Given the description of an element on the screen output the (x, y) to click on. 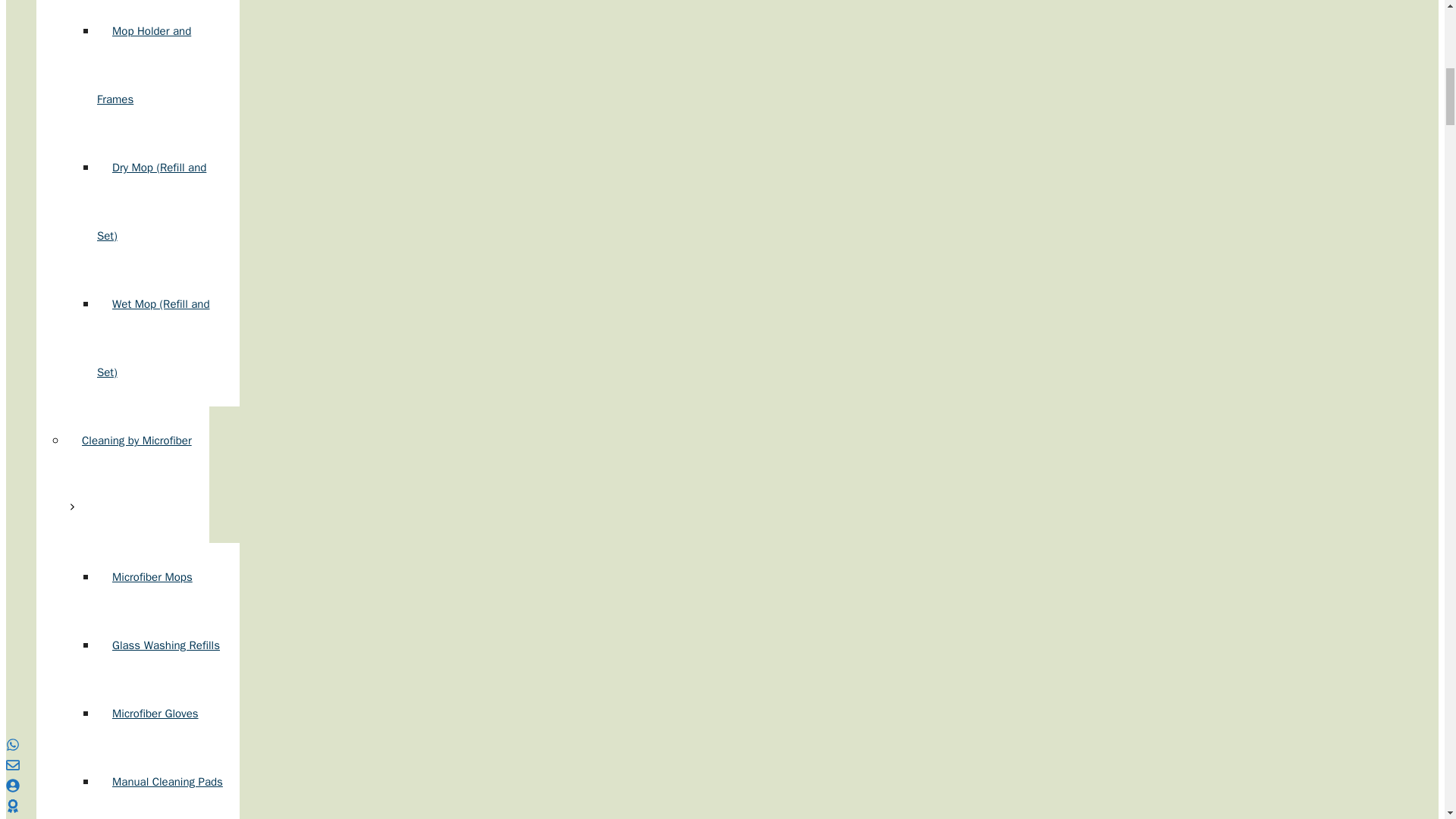
Cleaning by Microfiber (129, 474)
Microfiber Mops (152, 576)
Glass Washing Refills (165, 645)
Microfiber Gloves (155, 713)
Manual Cleaning Pads (167, 781)
Mop Holder and Frames (143, 65)
